Given the description of an element on the screen output the (x, y) to click on. 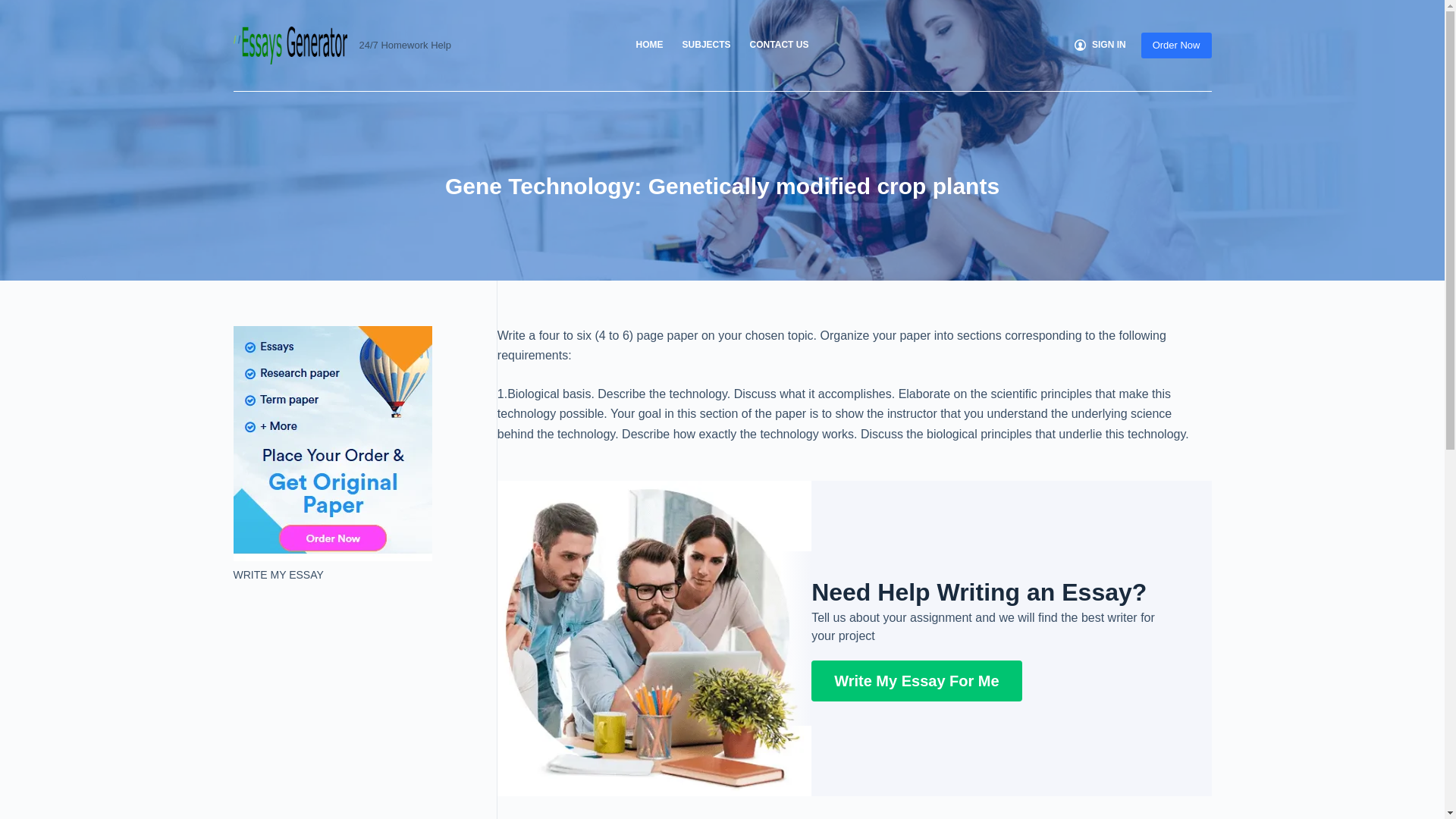
SIGN IN (1099, 45)
Order Now (1176, 45)
Write My Essay For Me (916, 680)
Skip to content (15, 7)
Gene Technology: Genetically modified crop plants (722, 185)
